Given the description of an element on the screen output the (x, y) to click on. 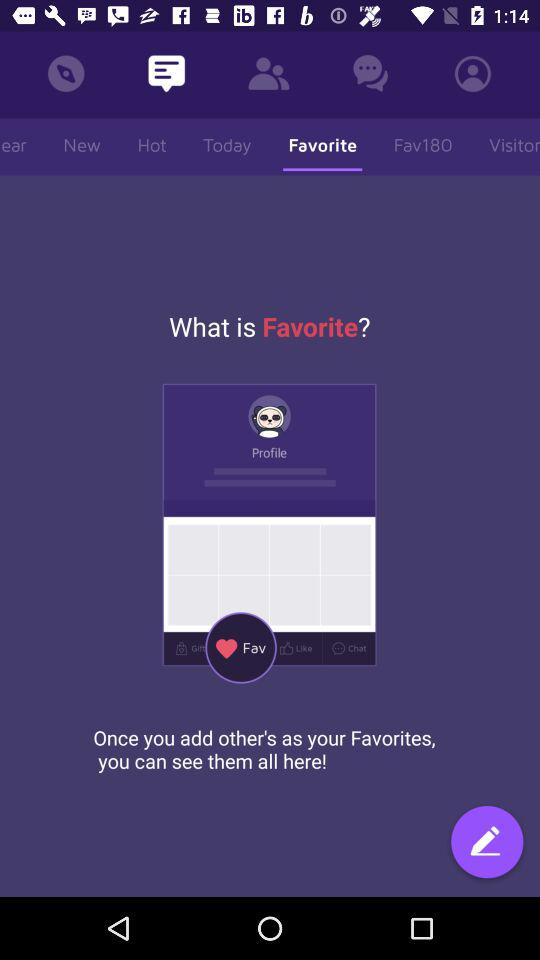
choose the icon at the bottom right corner (487, 844)
